Given the description of an element on the screen output the (x, y) to click on. 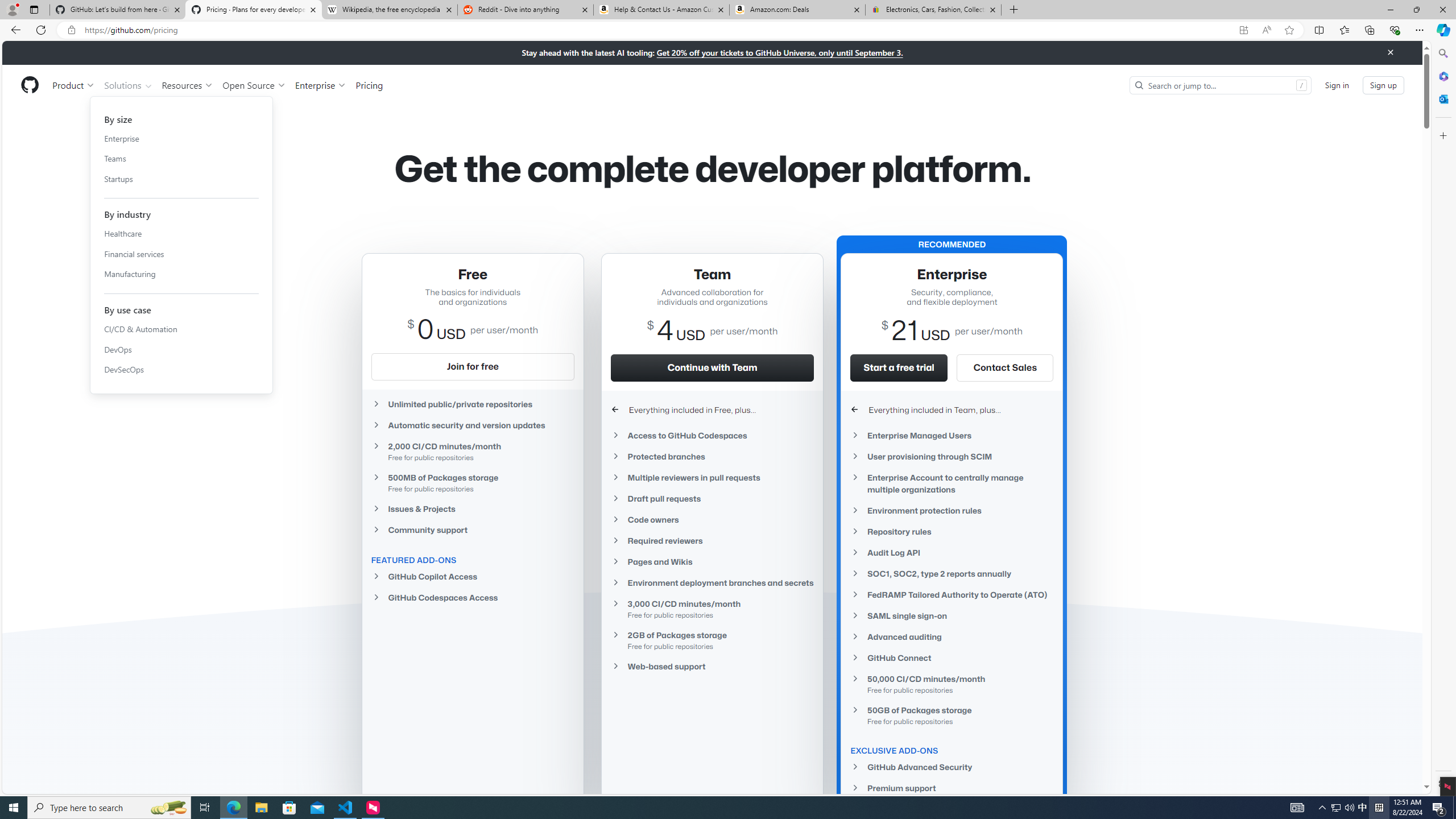
GitHub Connect (952, 658)
Web-based support (711, 666)
Community support (473, 529)
SAML single sign-on (952, 615)
Continue with Team (711, 367)
DevSecOps (181, 369)
Environment protection rules (952, 510)
